Given the description of an element on the screen output the (x, y) to click on. 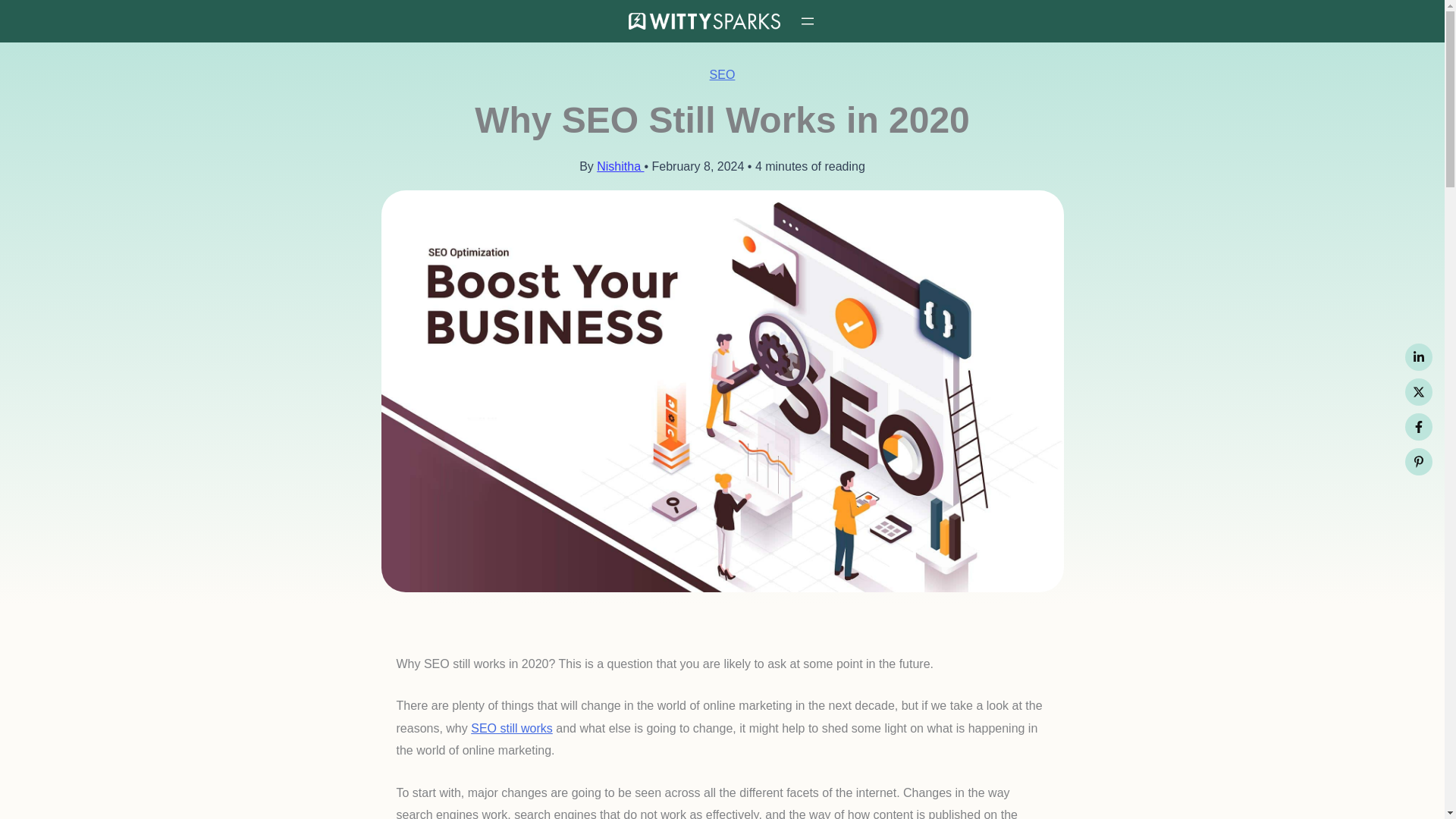
View all posts by Nishitha (619, 165)
Nishitha (619, 165)
SEO (722, 74)
SEO still works (511, 727)
